Given the description of an element on the screen output the (x, y) to click on. 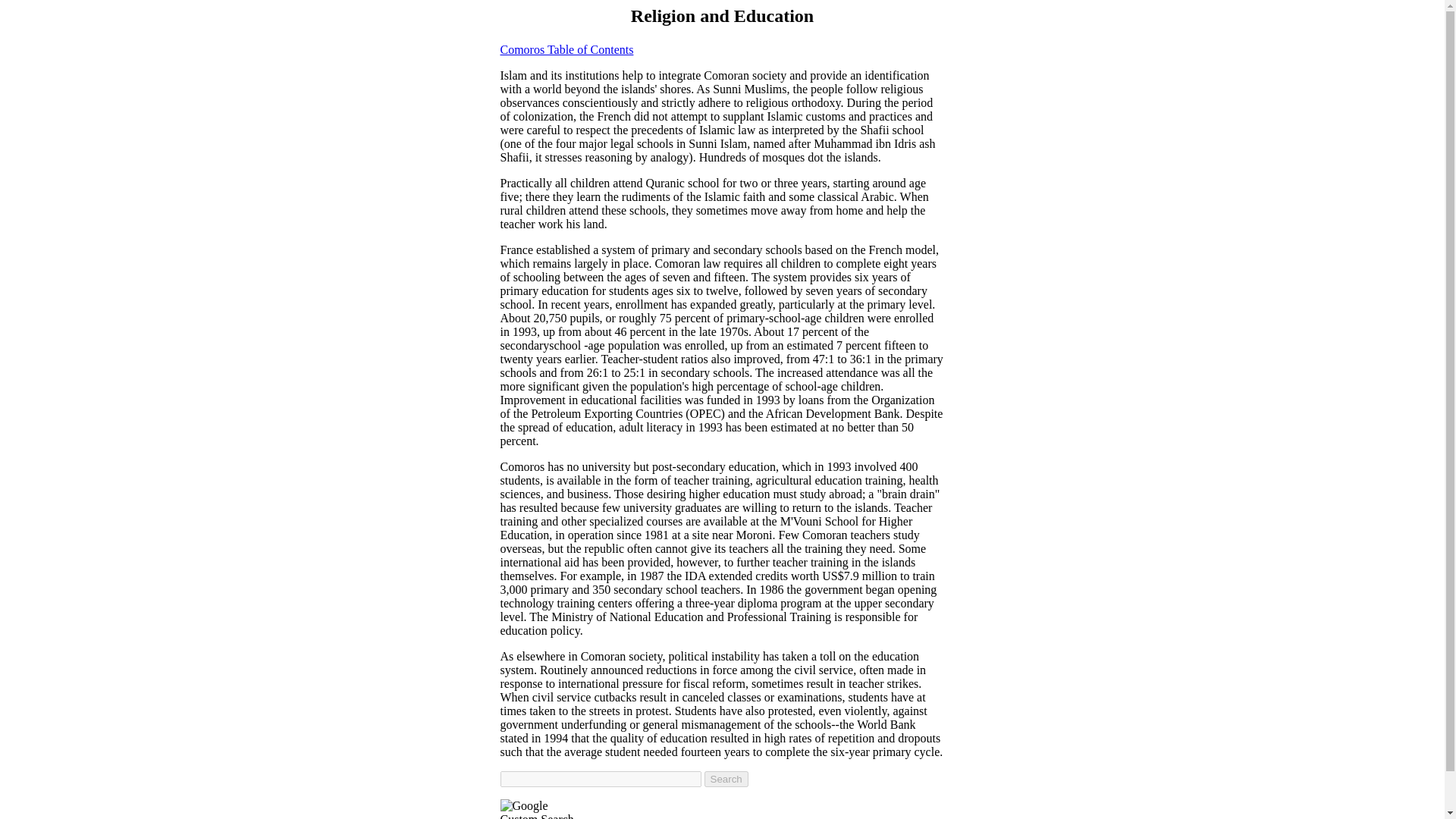
Search (725, 779)
Comoros Table of Contents (566, 49)
Search (725, 779)
